Given the description of an element on the screen output the (x, y) to click on. 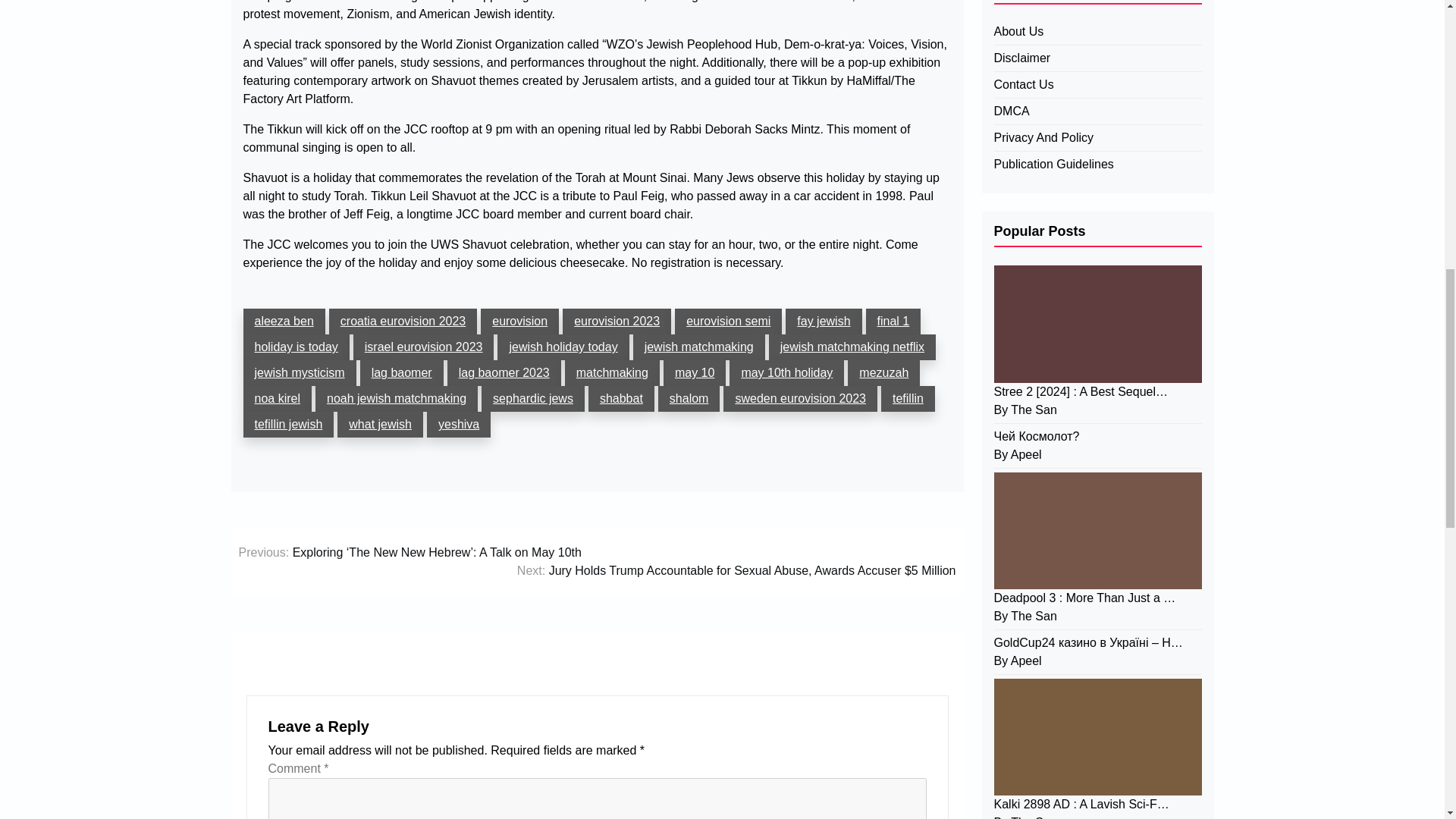
eurovision (519, 321)
croatia eurovision 2023 (403, 321)
israel eurovision 2023 (424, 347)
holiday is today (296, 347)
eurovision 2023 (616, 321)
final 1 (893, 321)
aleeza ben (283, 321)
fay jewish (823, 321)
eurovision semi (728, 321)
